Given the description of an element on the screen output the (x, y) to click on. 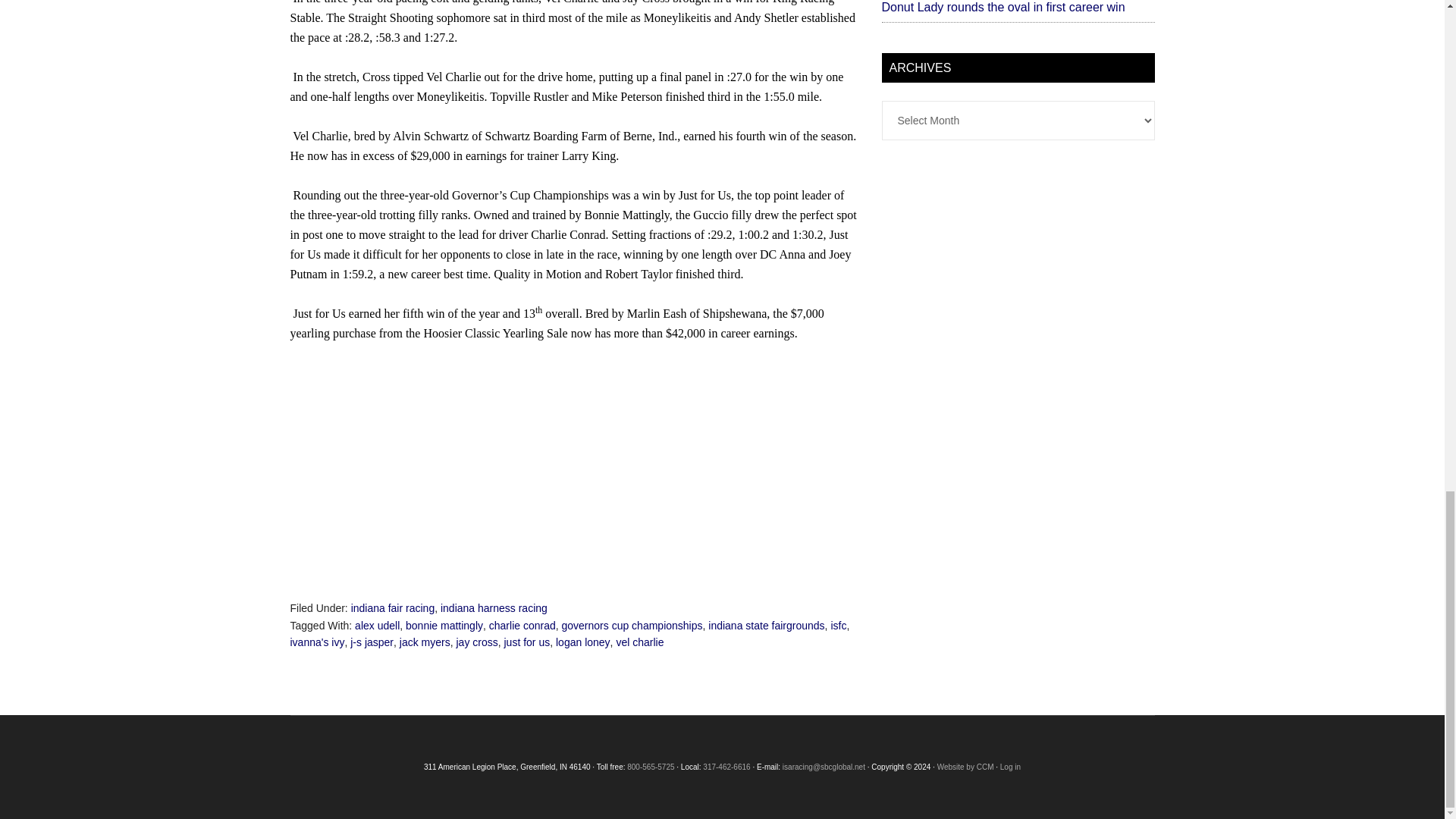
Websites for Greenfield and Indianapolis, Indiana (966, 766)
